Given the description of an element on the screen output the (x, y) to click on. 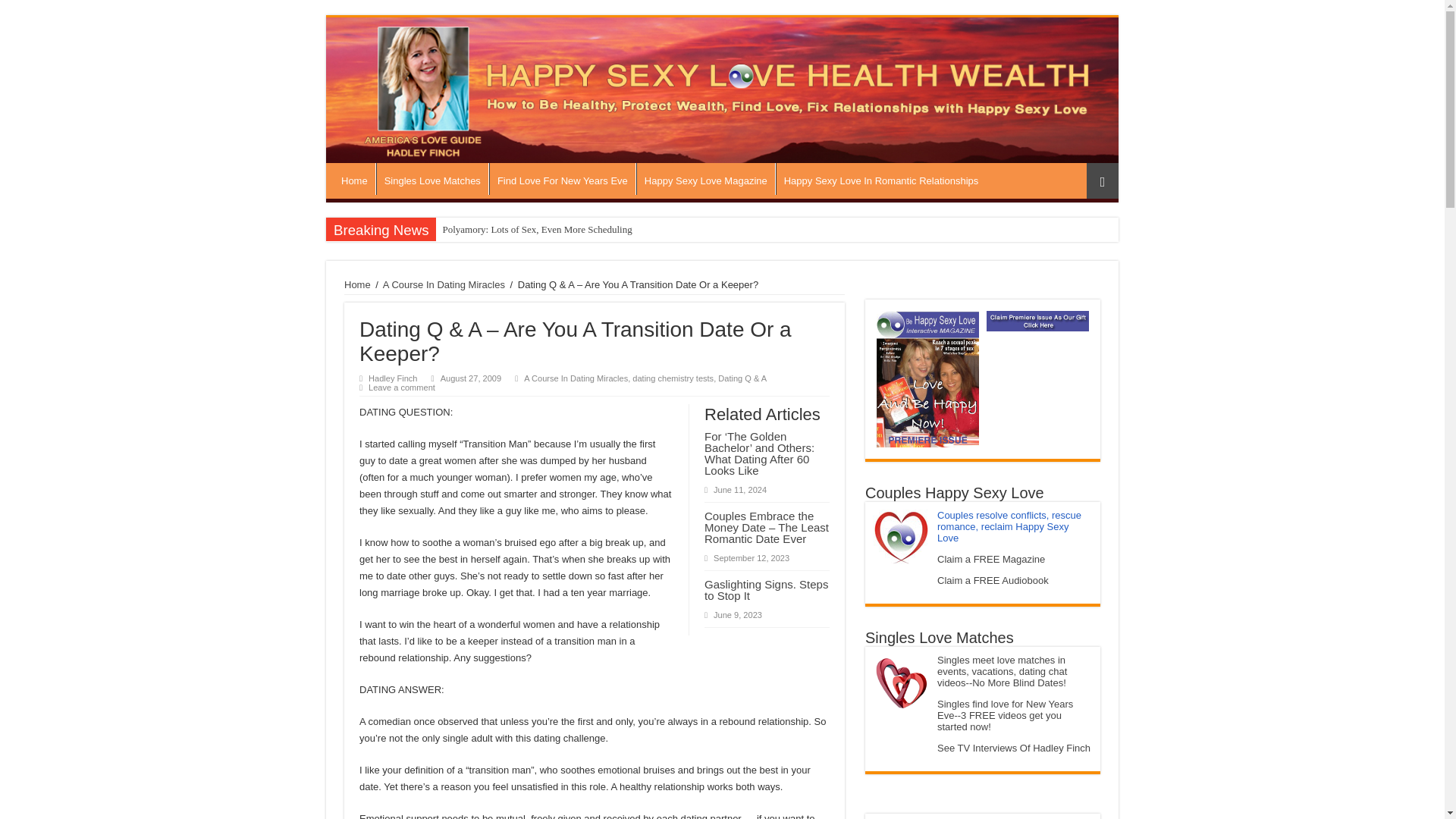
A Course In Dating Miracles (575, 378)
Happy Sexy Love In Romantic Relationships (881, 178)
Find Love For New Years Eve (561, 178)
Home (354, 178)
A Course In Dating Miracles (443, 284)
Happy Sexy Love (722, 89)
dating chemistry tests (672, 378)
Happy Sexy Love Magazine (705, 178)
Home (357, 284)
Polyamory: Lots of Sex, Even More Scheduling (536, 229)
Leave a comment (401, 387)
Polyamory: Lots of Sex, Even More Scheduling (536, 229)
Gaslighting Signs. Steps to Stop It (766, 589)
Hadley Finch (392, 378)
Singles Love Matches (431, 178)
